Given the description of an element on the screen output the (x, y) to click on. 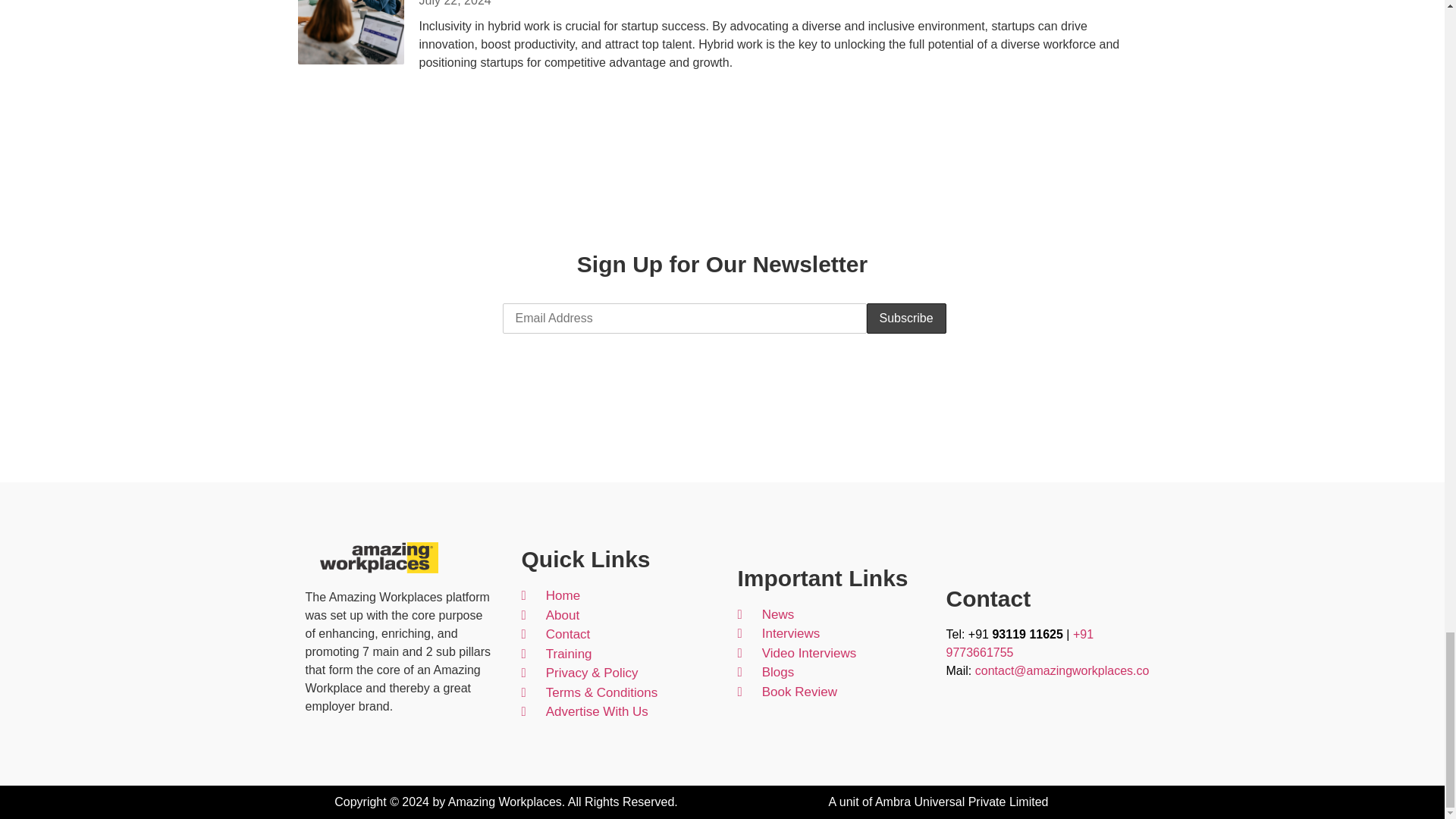
Subscribe (905, 318)
